Given the description of an element on the screen output the (x, y) to click on. 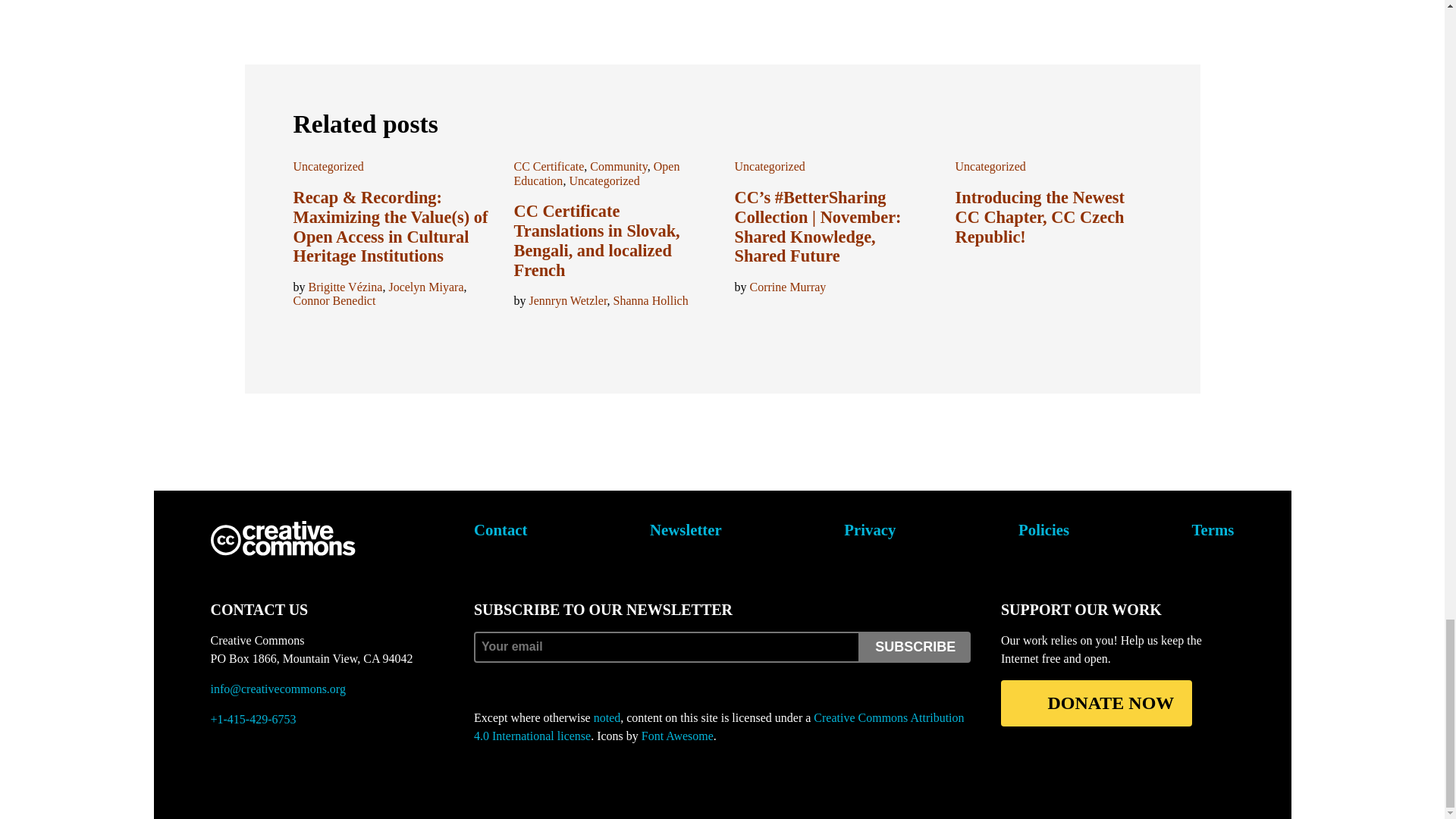
subscribe (915, 646)
